Given the description of an element on the screen output the (x, y) to click on. 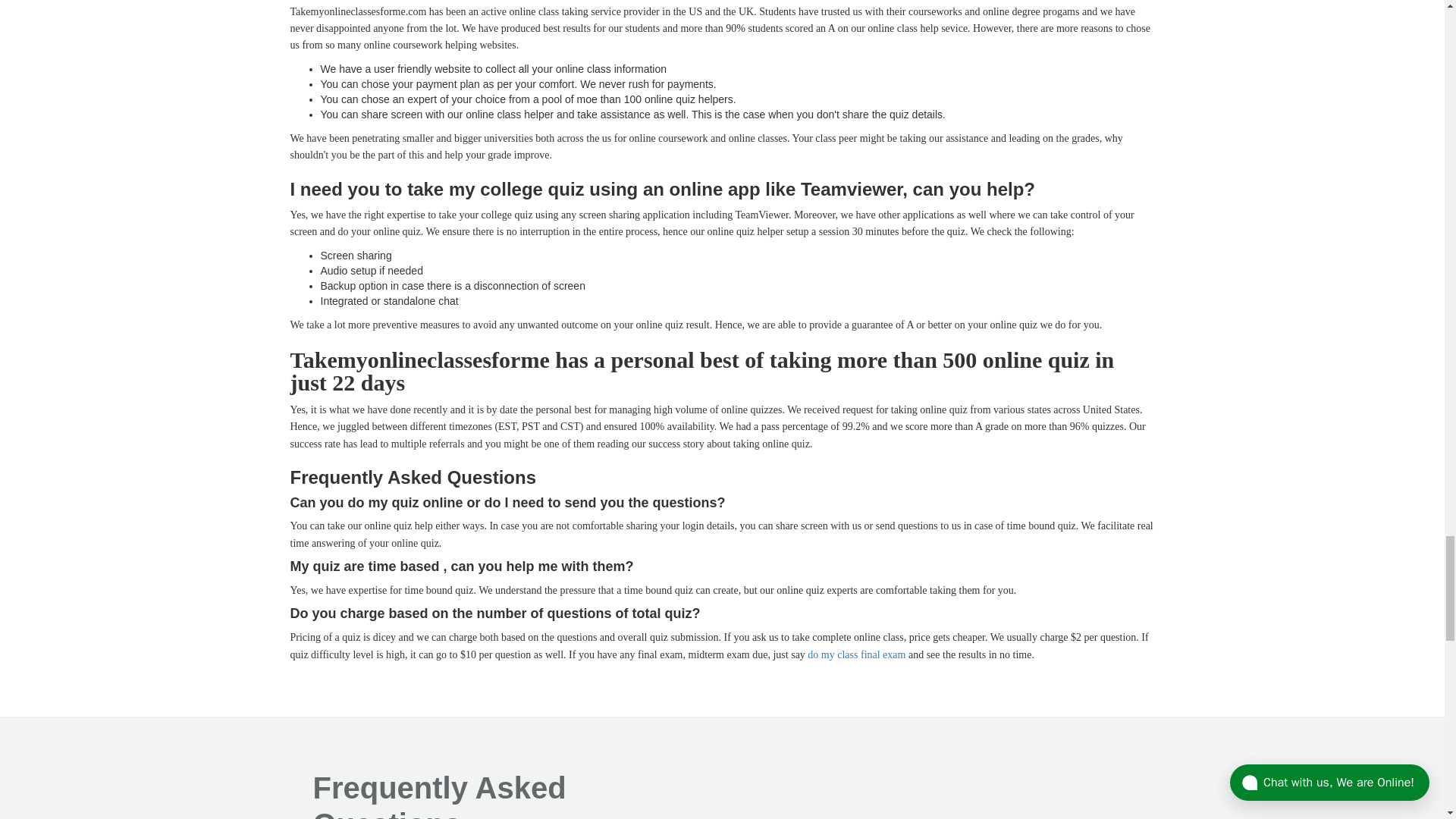
do my class final exam (856, 654)
